Given the description of an element on the screen output the (x, y) to click on. 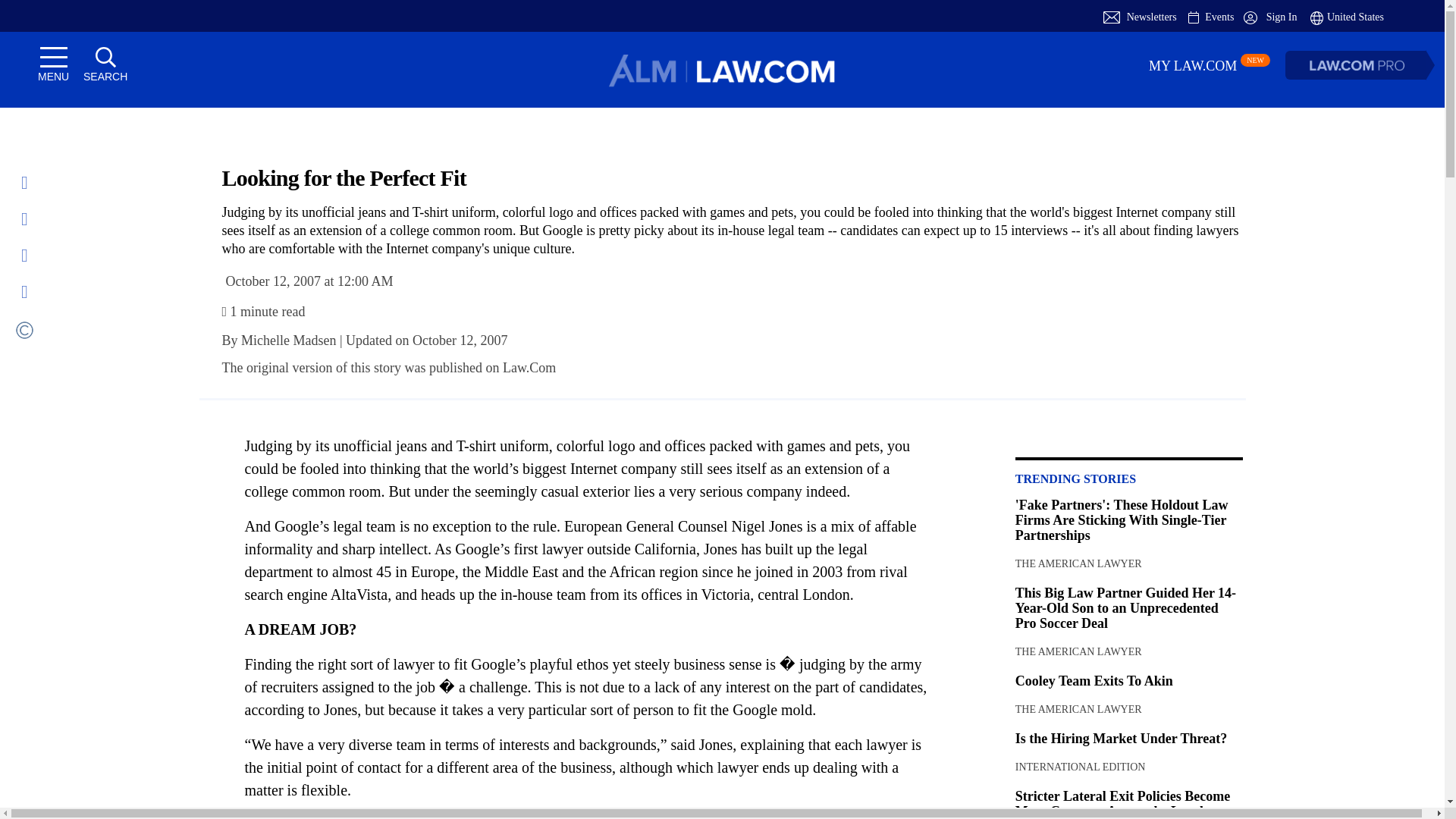
Events (1219, 16)
Sign In (1270, 16)
Newsletters (1151, 16)
United States (1347, 16)
